Given the description of an element on the screen output the (x, y) to click on. 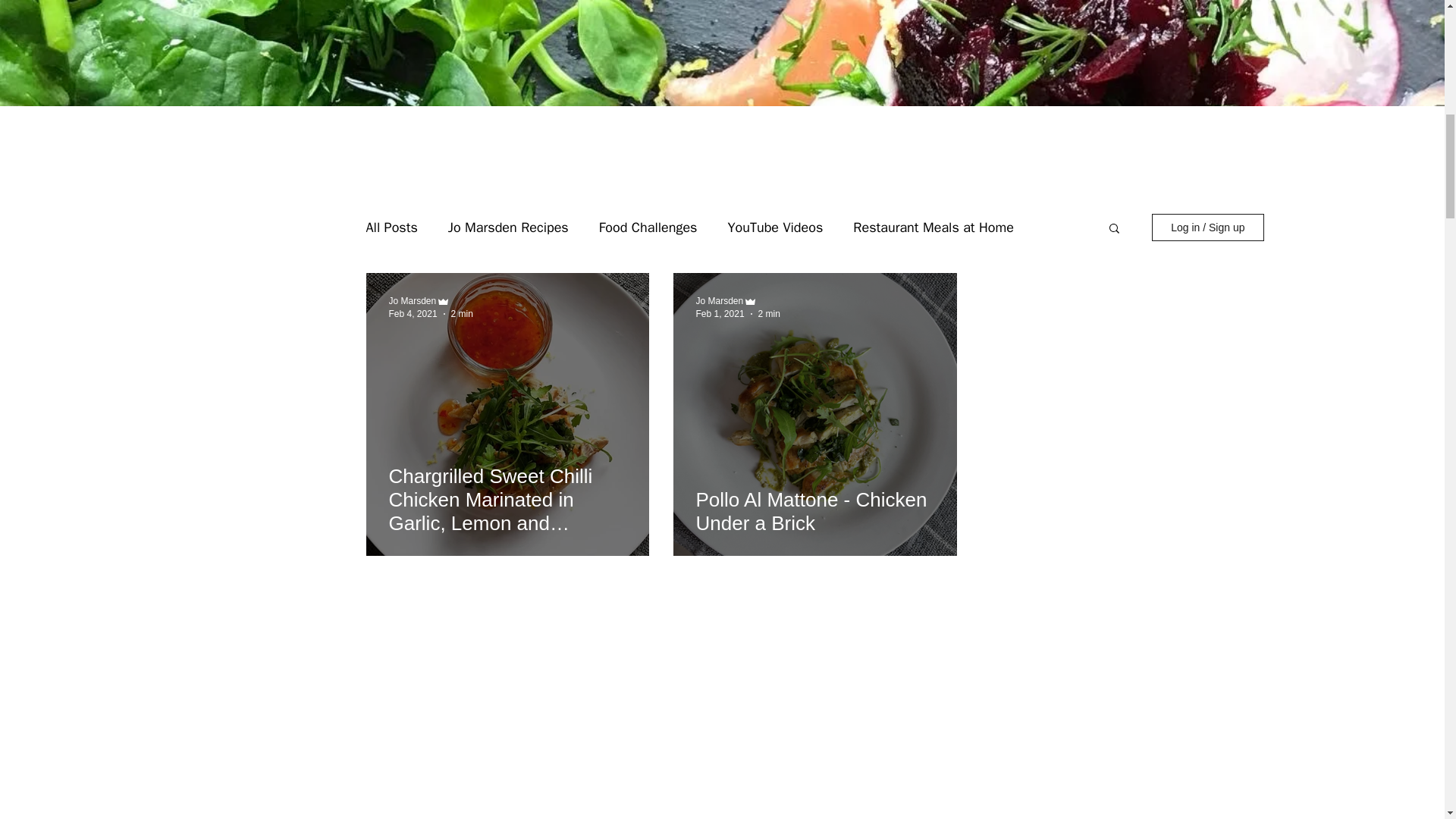
YouTube Videos (774, 227)
Feb 1, 2021 (719, 312)
Feb 4, 2021 (412, 312)
Jo Marsden (411, 300)
All Posts (390, 227)
2 min (462, 312)
Jo Marsden Recipes (508, 227)
Pollo Al Mattone - Chicken Under a Brick (814, 511)
Food Challenges (647, 227)
2 min (769, 312)
Restaurant Meals at Home (933, 227)
Jo Marsden (719, 300)
